Given the description of an element on the screen output the (x, y) to click on. 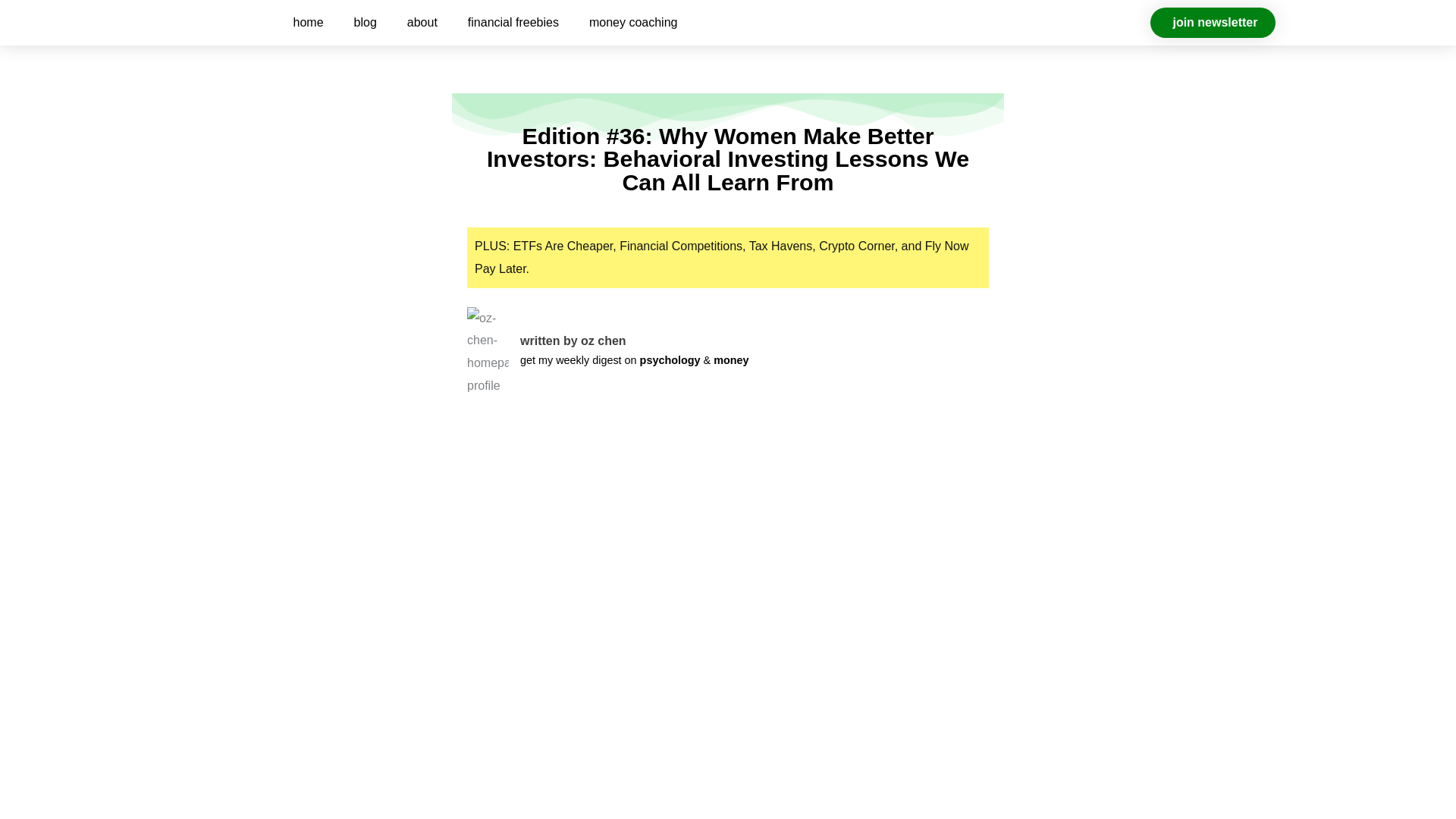
financial freebies (512, 22)
blog (365, 22)
home (308, 22)
money coaching (633, 22)
join newsletter (1212, 22)
about (421, 22)
